Given the description of an element on the screen output the (x, y) to click on. 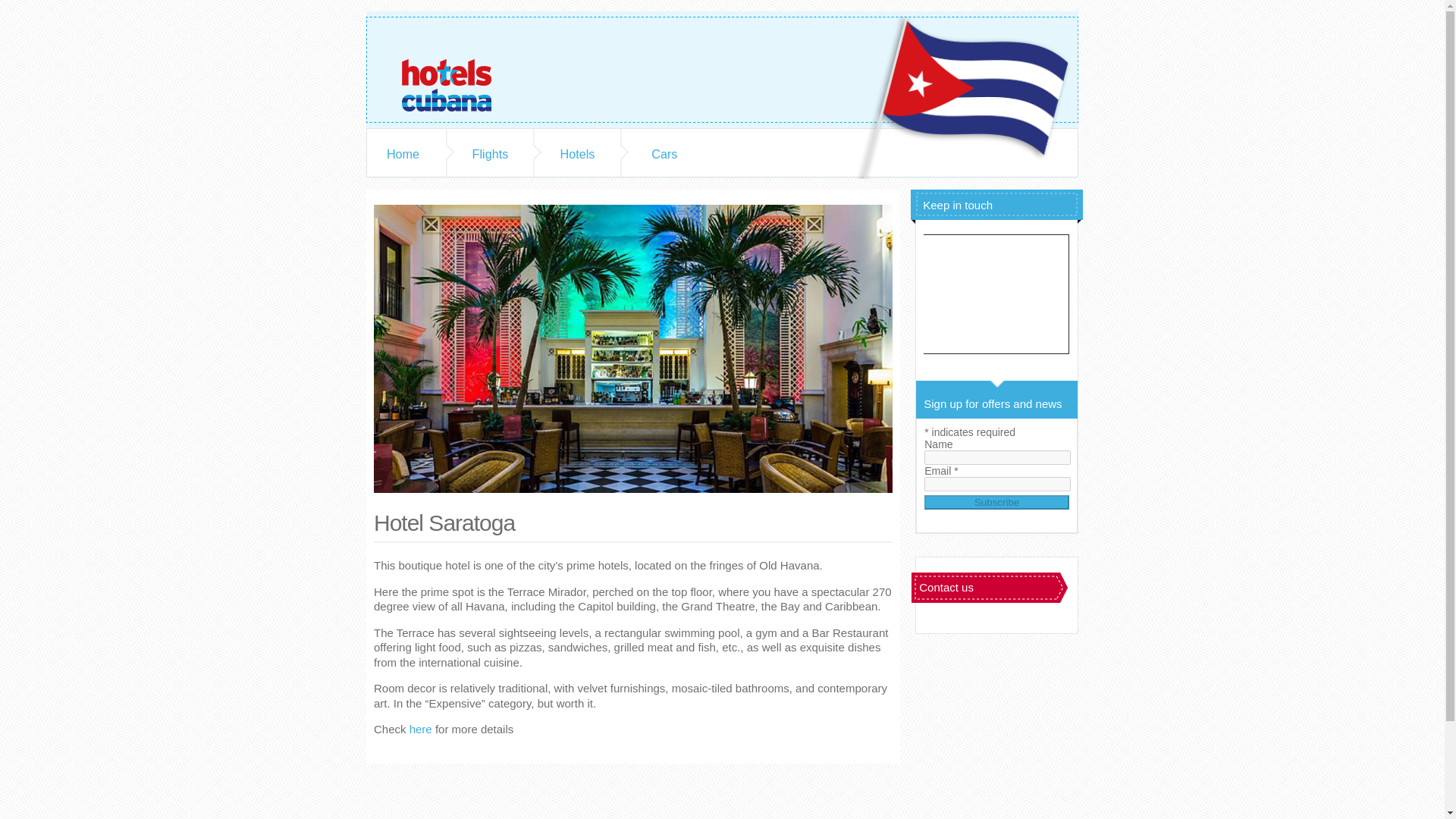
Hotels (576, 153)
Home (402, 153)
Flights (489, 153)
Subscribe (996, 502)
here (420, 728)
Hotel Cubana (457, 69)
Cars (664, 153)
Subscribe (996, 502)
